Given the description of an element on the screen output the (x, y) to click on. 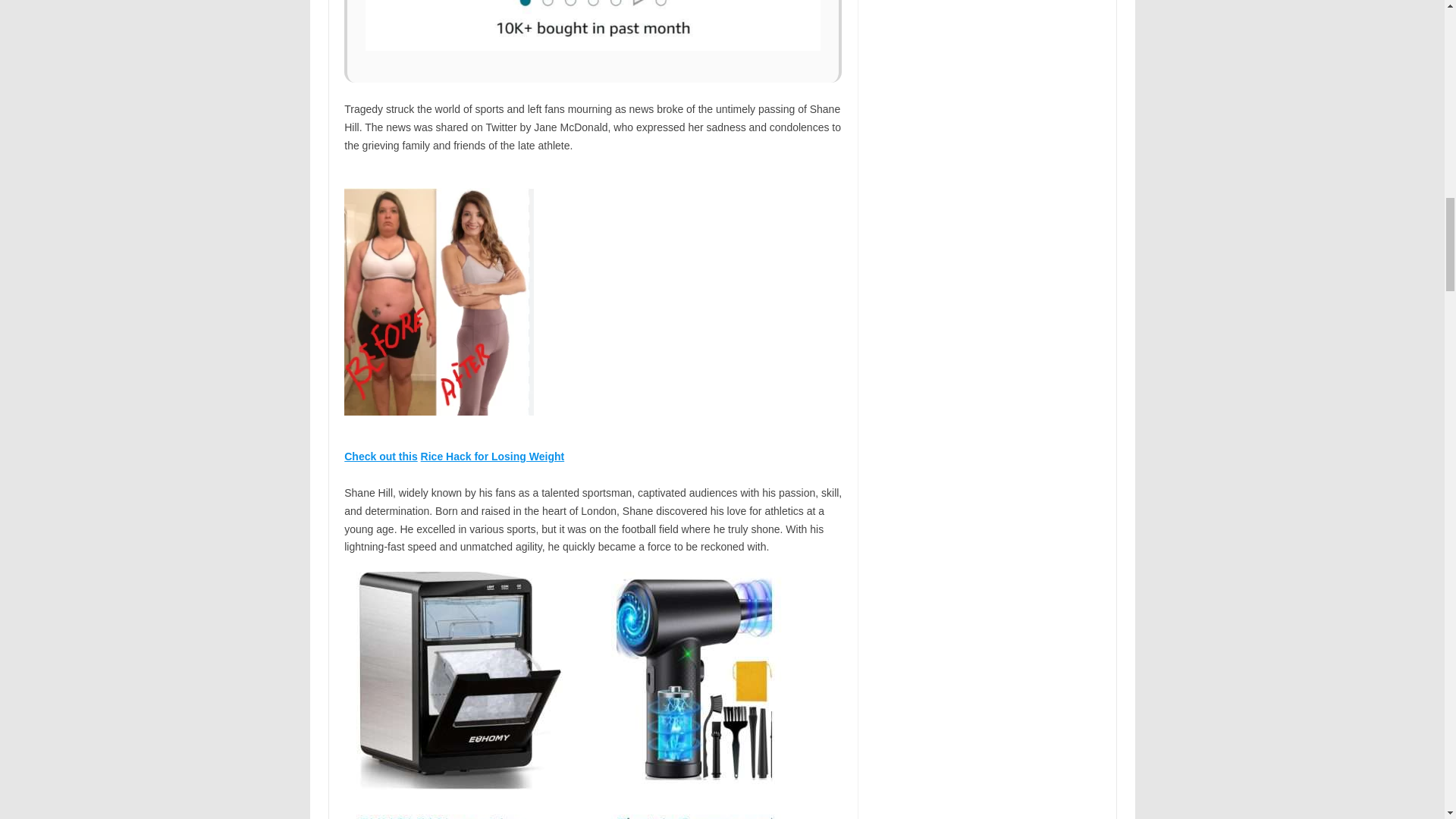
Check ou (367, 456)
Rice Hack for Losing Weight (492, 456)
t this (403, 456)
